Given the description of an element on the screen output the (x, y) to click on. 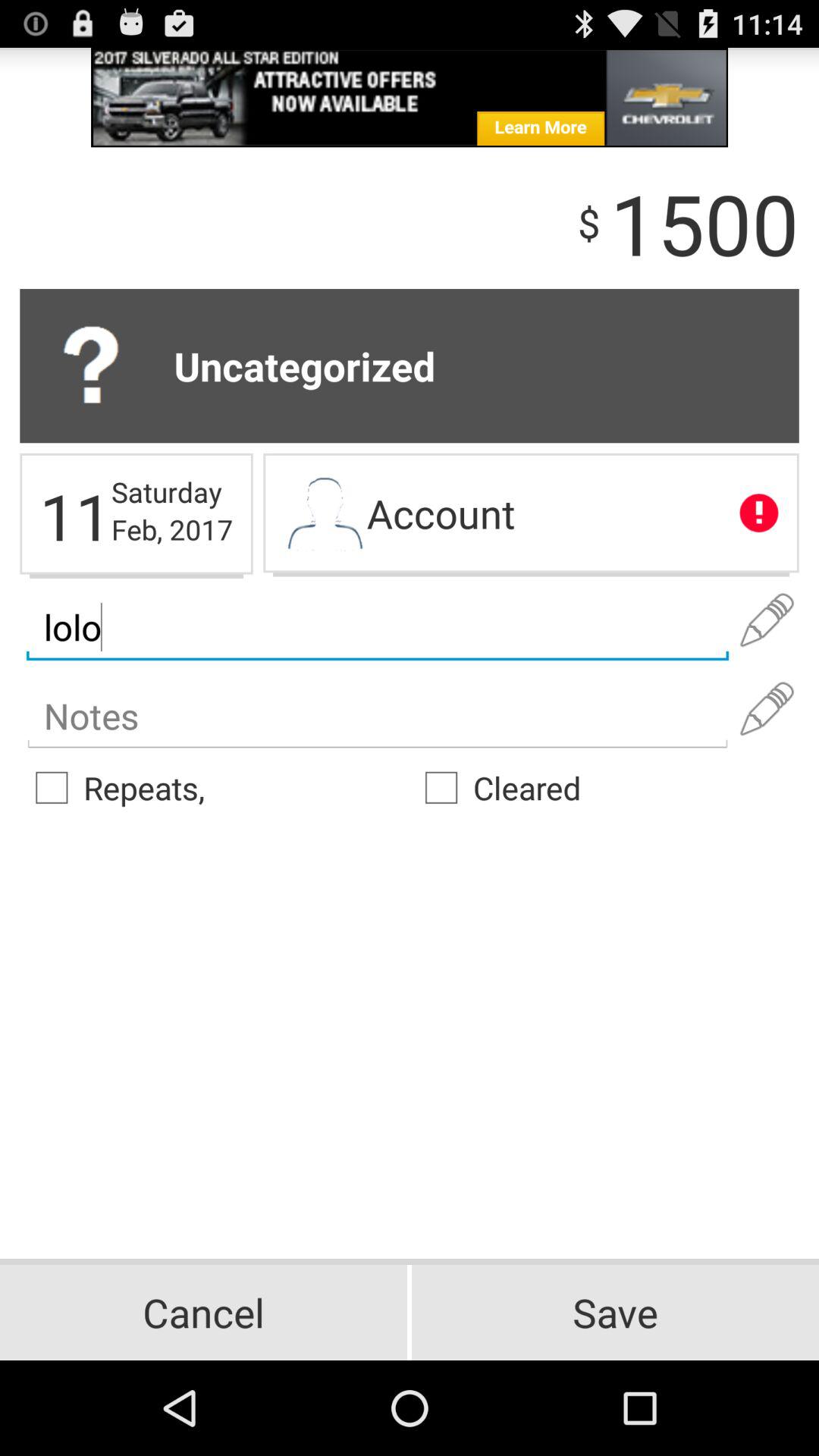
notes editing option (767, 709)
